Given the description of an element on the screen output the (x, y) to click on. 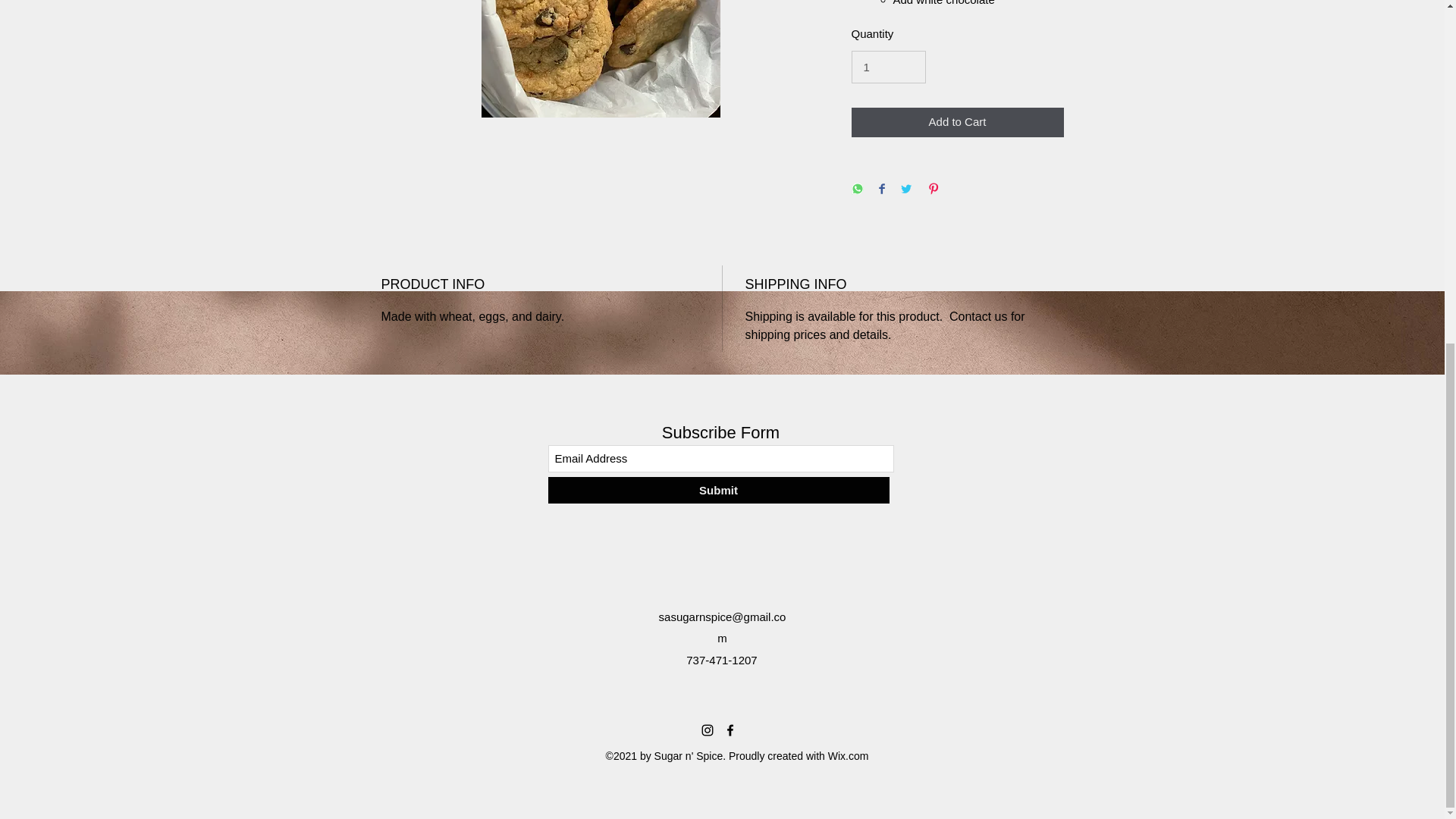
1 (887, 67)
Submit (717, 489)
Add to Cart (956, 122)
